Given the description of an element on the screen output the (x, y) to click on. 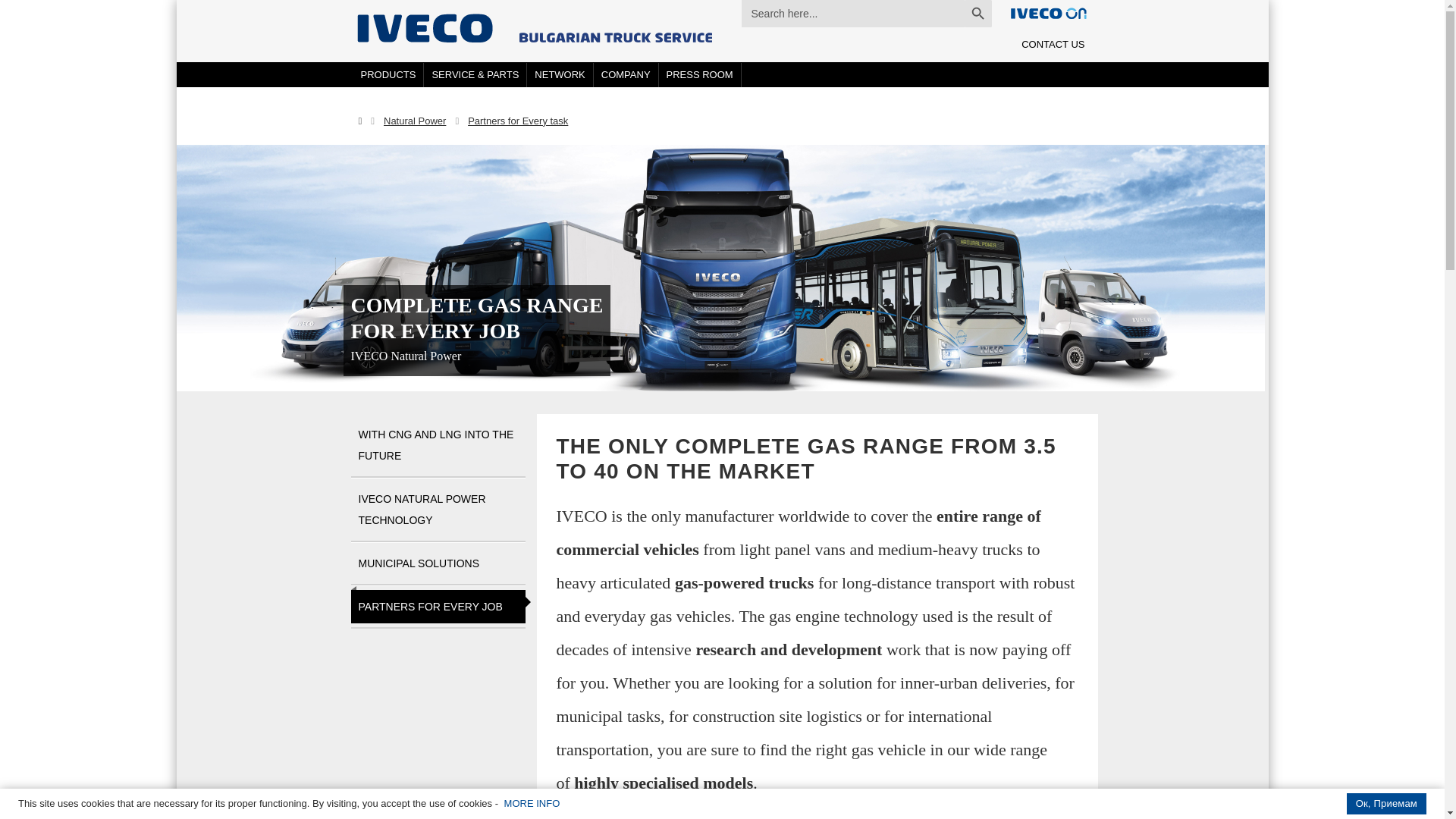
PRESS ROOM (700, 74)
NETWORK (559, 74)
COMPANY (626, 74)
PRODUCTS (389, 74)
MORE INFO (531, 803)
SEARCH BUTTON (977, 13)
CONTACT US (1052, 44)
